Given the description of an element on the screen output the (x, y) to click on. 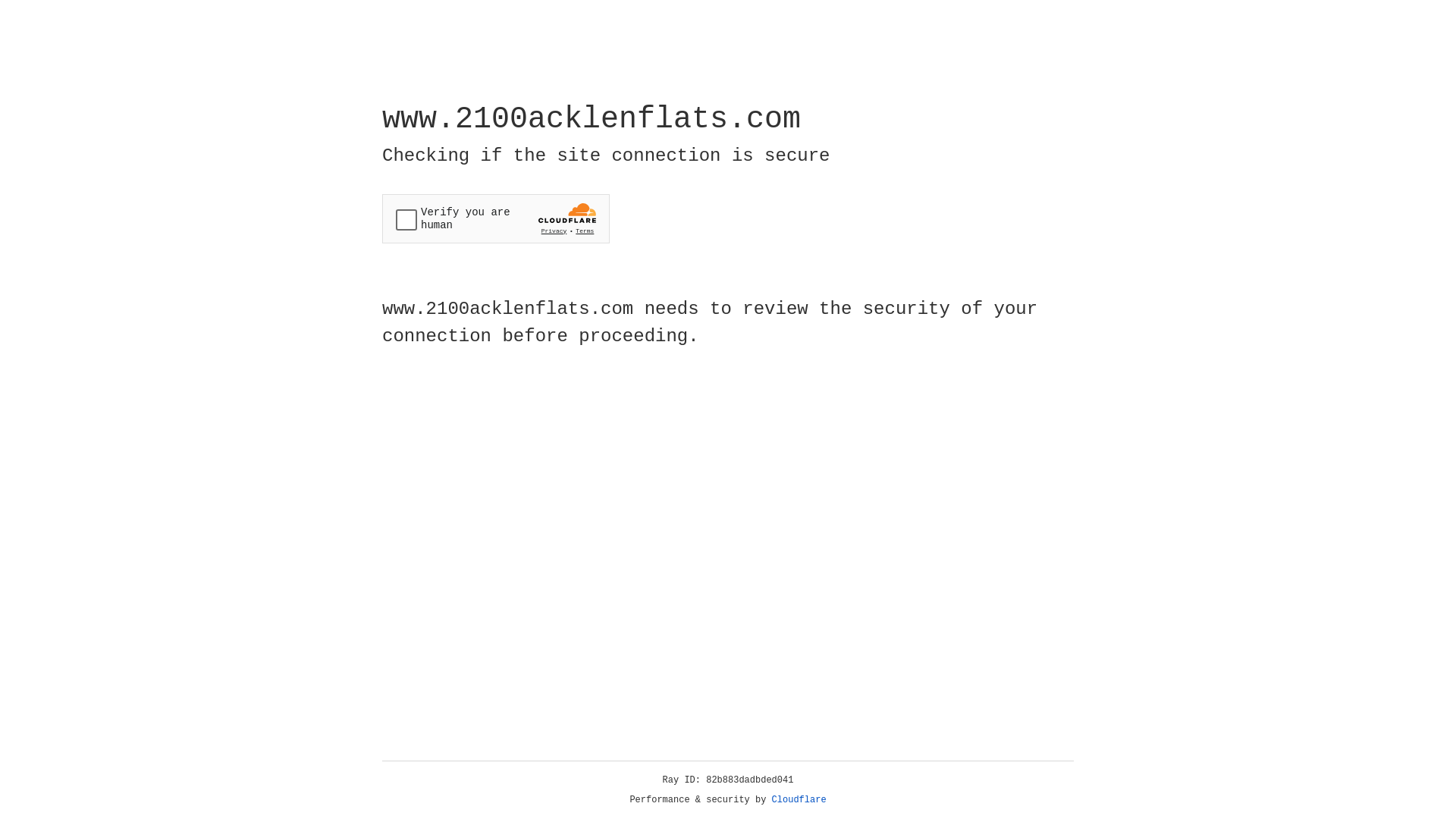
Widget containing a Cloudflare security challenge Element type: hover (495, 218)
Cloudflare Element type: text (798, 799)
